Given the description of an element on the screen output the (x, y) to click on. 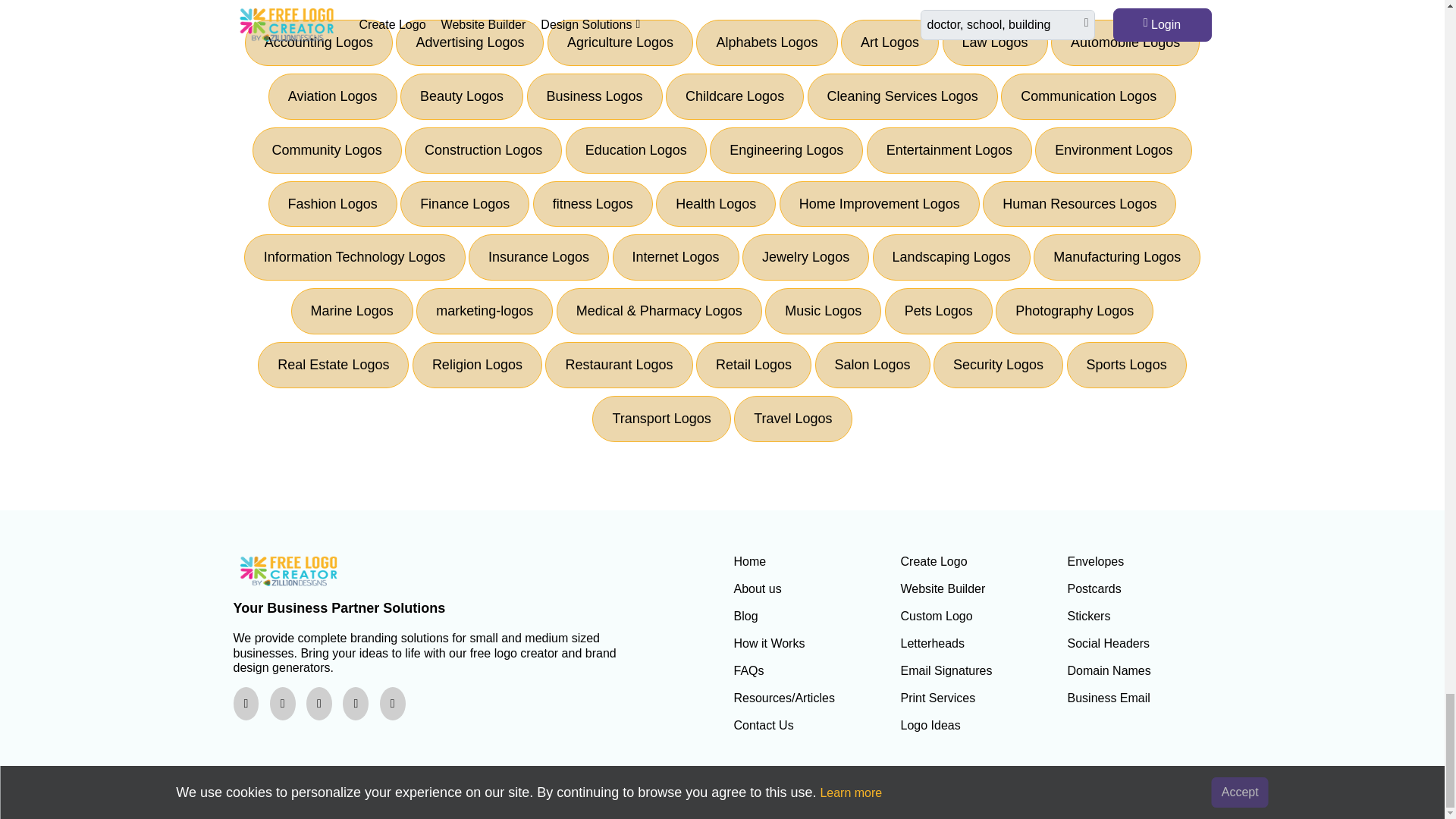
Accounting Logos (318, 42)
Agriculture Logos (620, 42)
Advertising Logos (469, 42)
Alphabets Logos (766, 42)
